Given the description of an element on the screen output the (x, y) to click on. 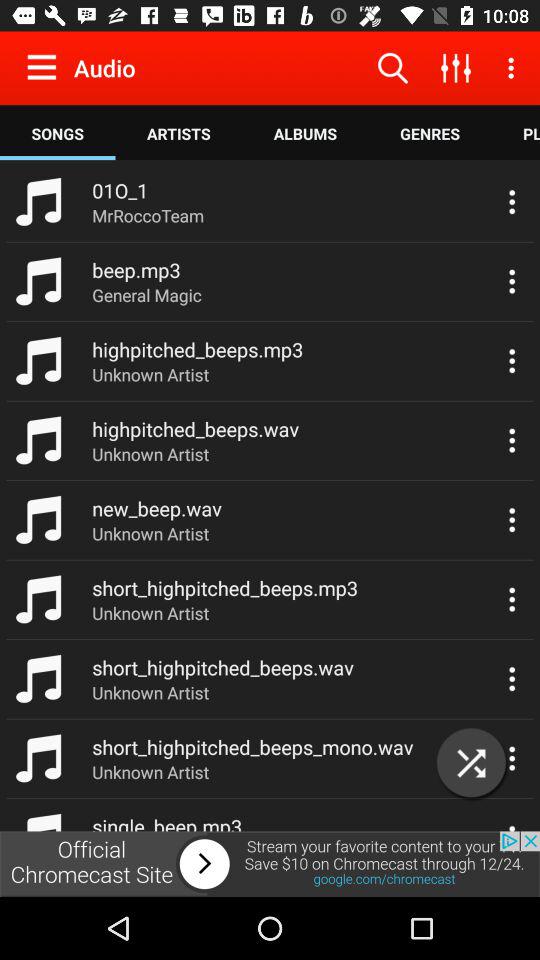
goes to main menu (46, 67)
